Given the description of an element on the screen output the (x, y) to click on. 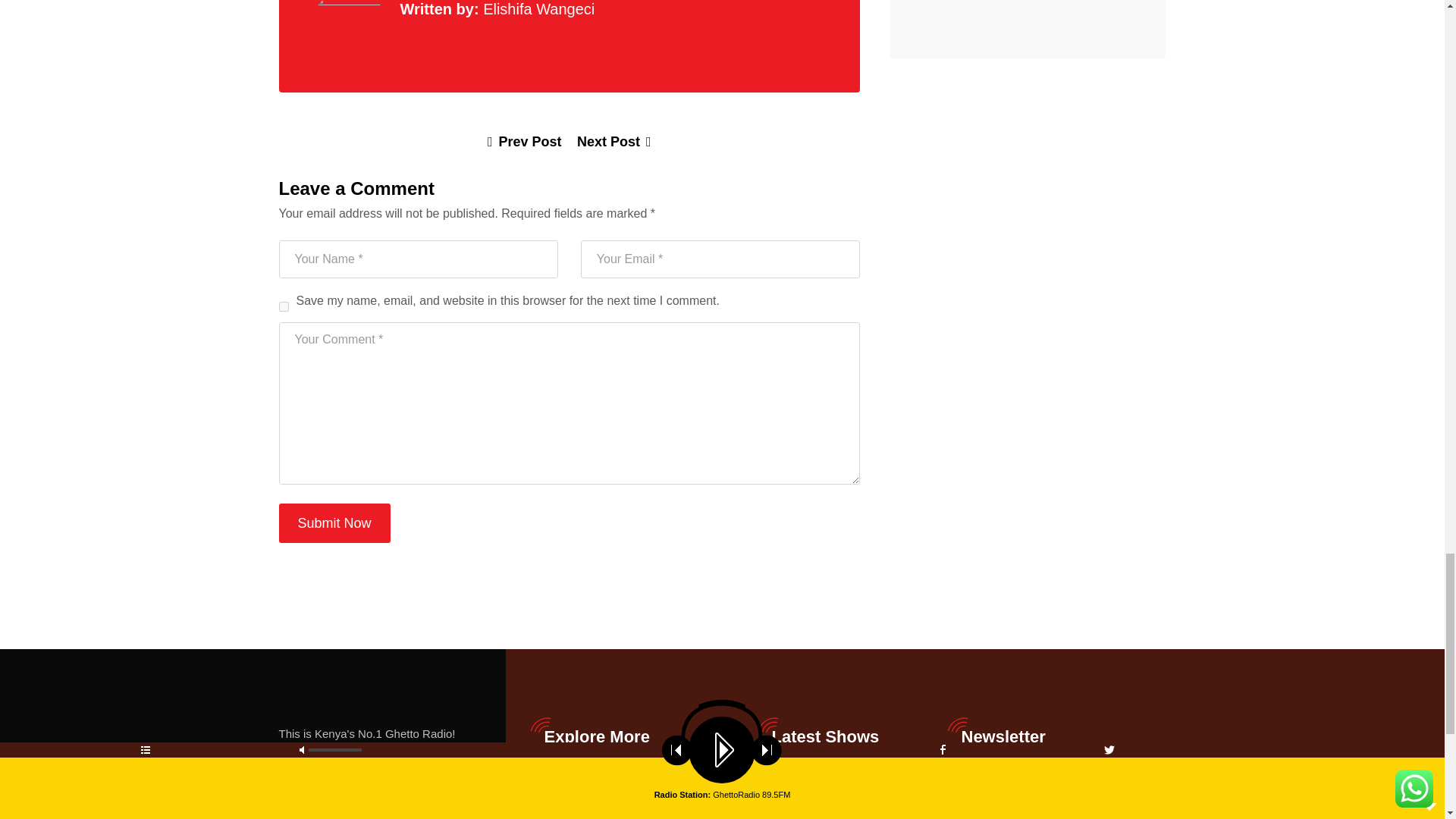
Posts by Elishifa Wangeci (538, 8)
